Given the description of an element on the screen output the (x, y) to click on. 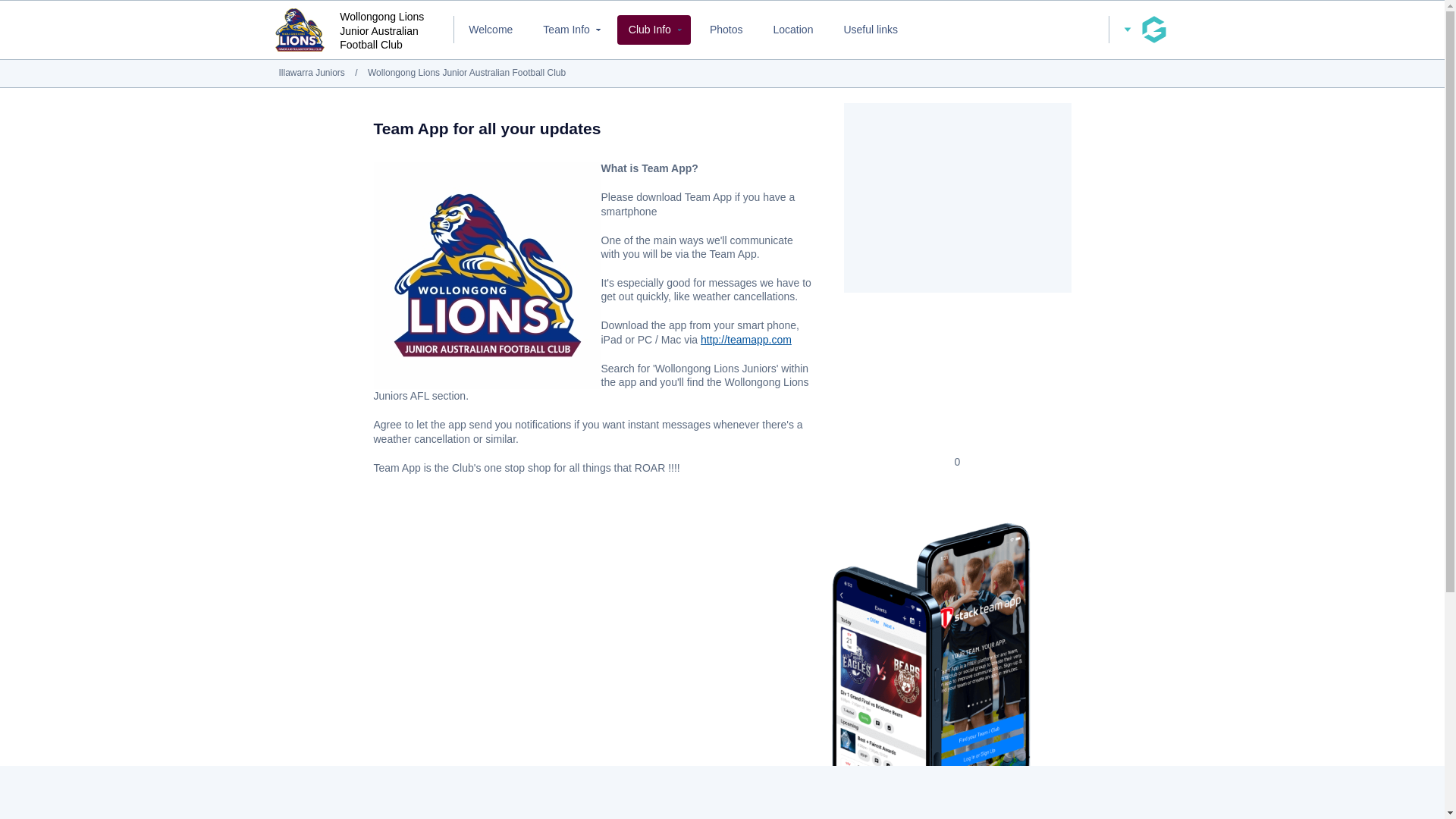
Team Info (569, 29)
Club Info (653, 29)
Photos (726, 29)
Welcome (490, 29)
Location (792, 29)
Illawarra Juniors (312, 72)
Useful links (869, 29)
Wollongong Lions Junior Australian Football Club (467, 72)
